Given the description of an element on the screen output the (x, y) to click on. 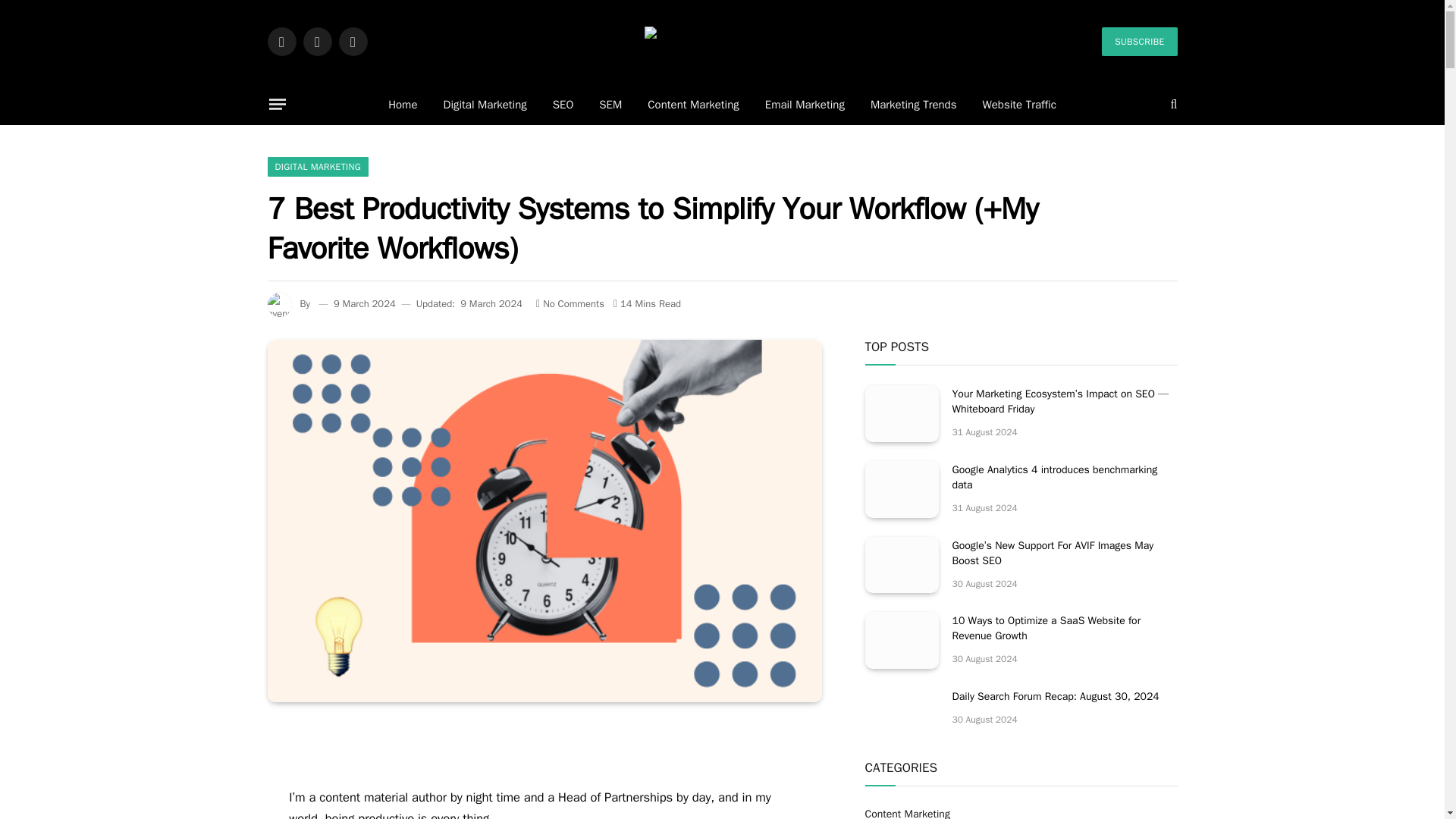
Avenue Ads (722, 41)
Home (402, 104)
SUBSCRIBE (1139, 41)
Marketing Trends (913, 104)
No Comments (569, 303)
Instagram (351, 41)
Facebook (280, 41)
Content Marketing (692, 104)
DIGITAL MARKETING (317, 166)
Website Traffic (1018, 104)
